Given the description of an element on the screen output the (x, y) to click on. 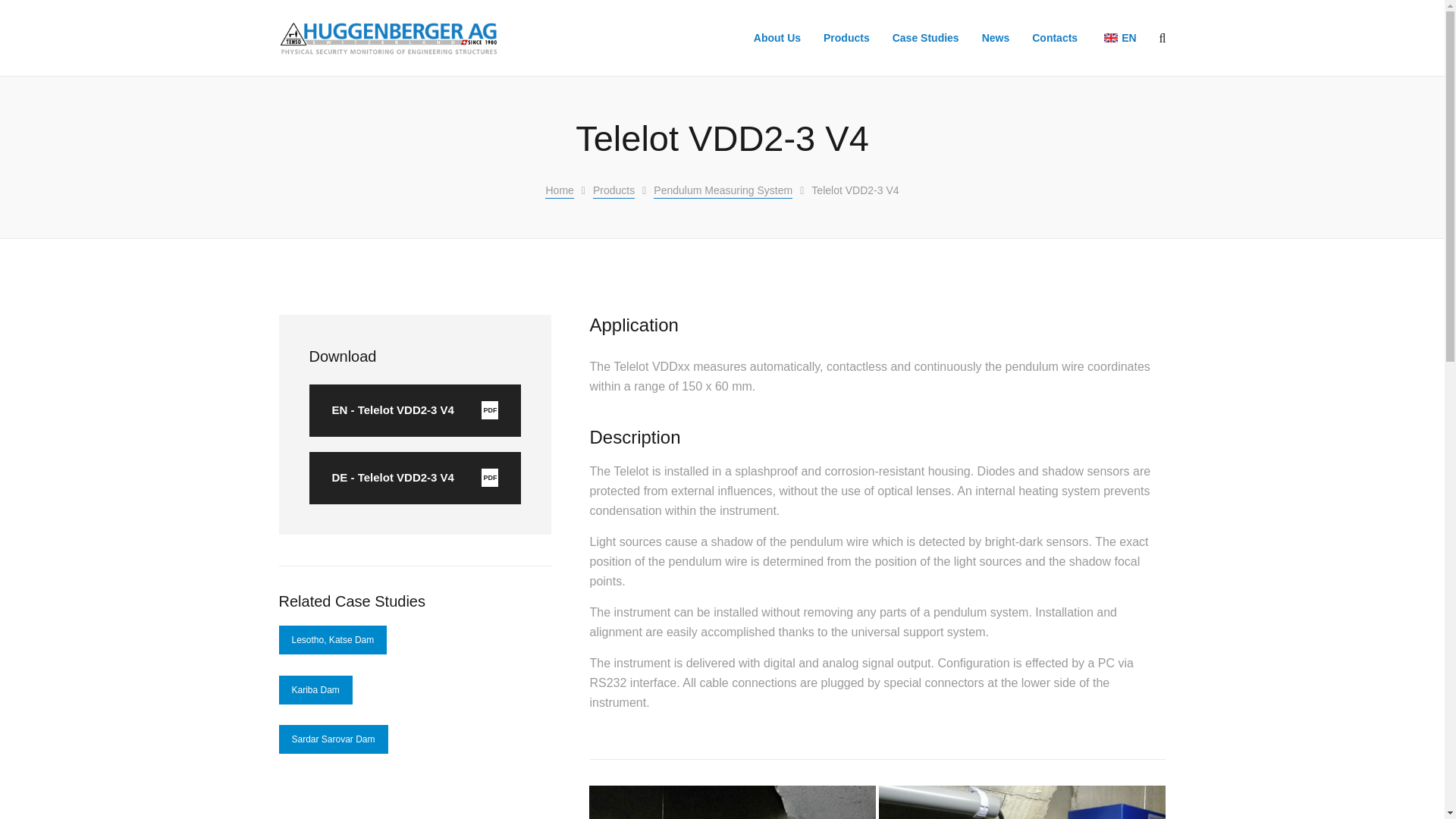
Lesotho, Katse Dam (333, 639)
Kariba Dam (315, 689)
Lesotho, Katse Dam (333, 639)
Sardar Sarovar Dam (333, 738)
English (1110, 37)
Home (558, 191)
Huggenberger (389, 36)
Kariba Dam (315, 689)
Sardar Sarovar Dam (414, 478)
Products (333, 738)
Pendulum Measuring System (613, 191)
